Given the description of an element on the screen output the (x, y) to click on. 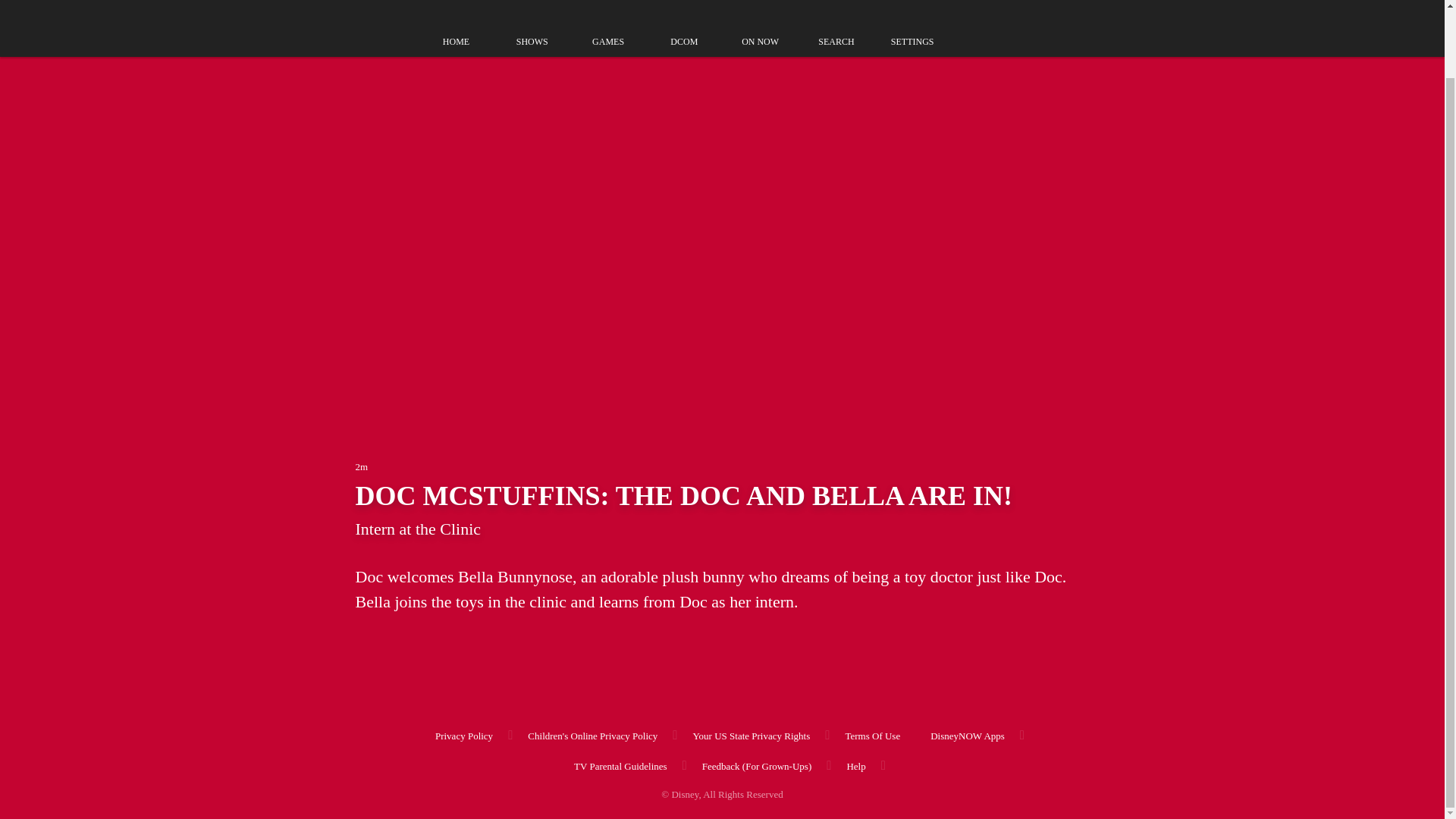
Help (855, 764)
Terms Of Use (872, 734)
Your US State Privacy Rights (751, 734)
TV Parental Guidelines (620, 764)
Children'S Online Privacy Policy (592, 734)
Privacy Policy (464, 734)
DisneyNOW Apps (967, 734)
